Given the description of an element on the screen output the (x, y) to click on. 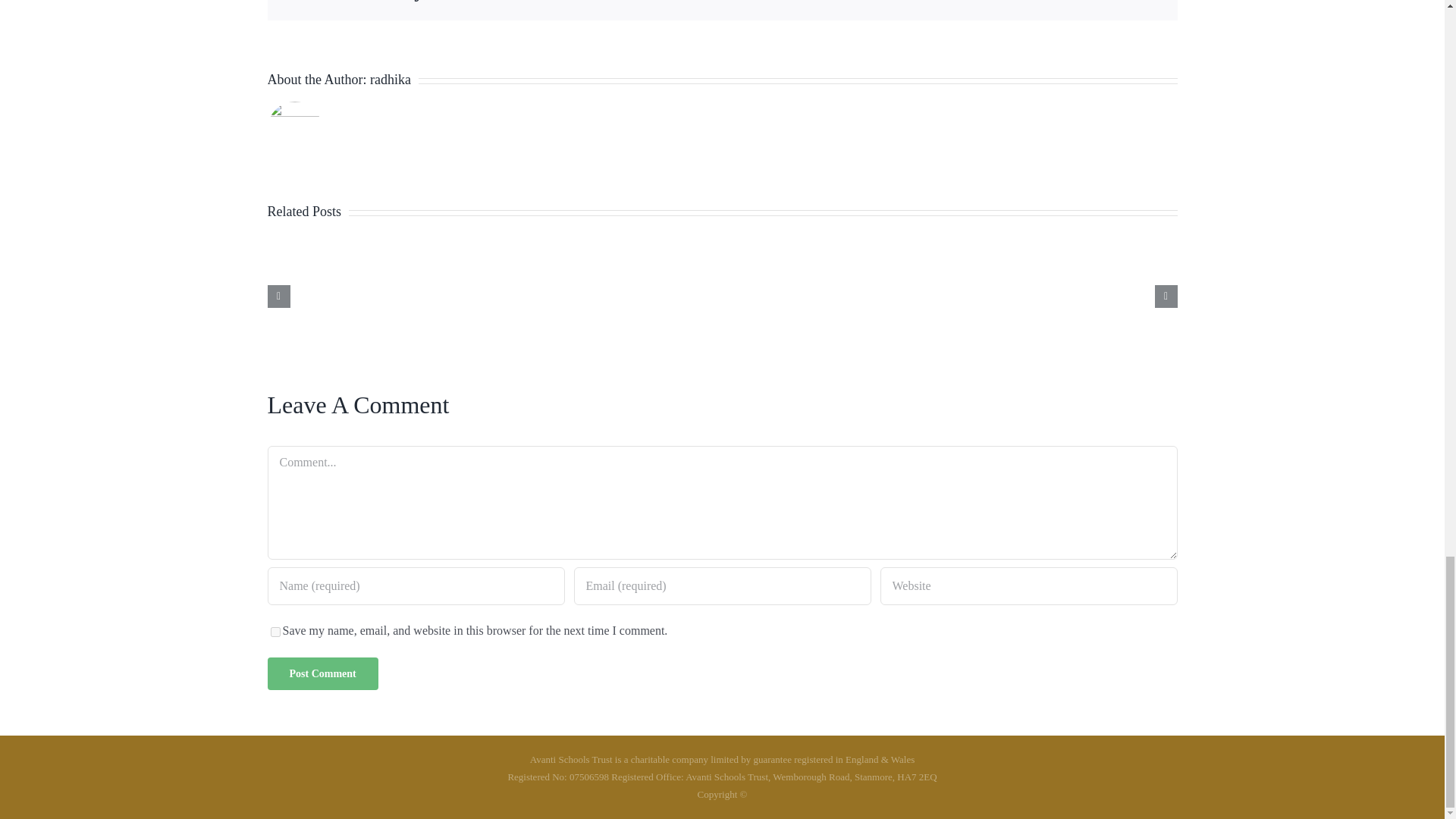
Posts by radhika (389, 79)
yes (274, 632)
Post Comment (321, 673)
